Given the description of an element on the screen output the (x, y) to click on. 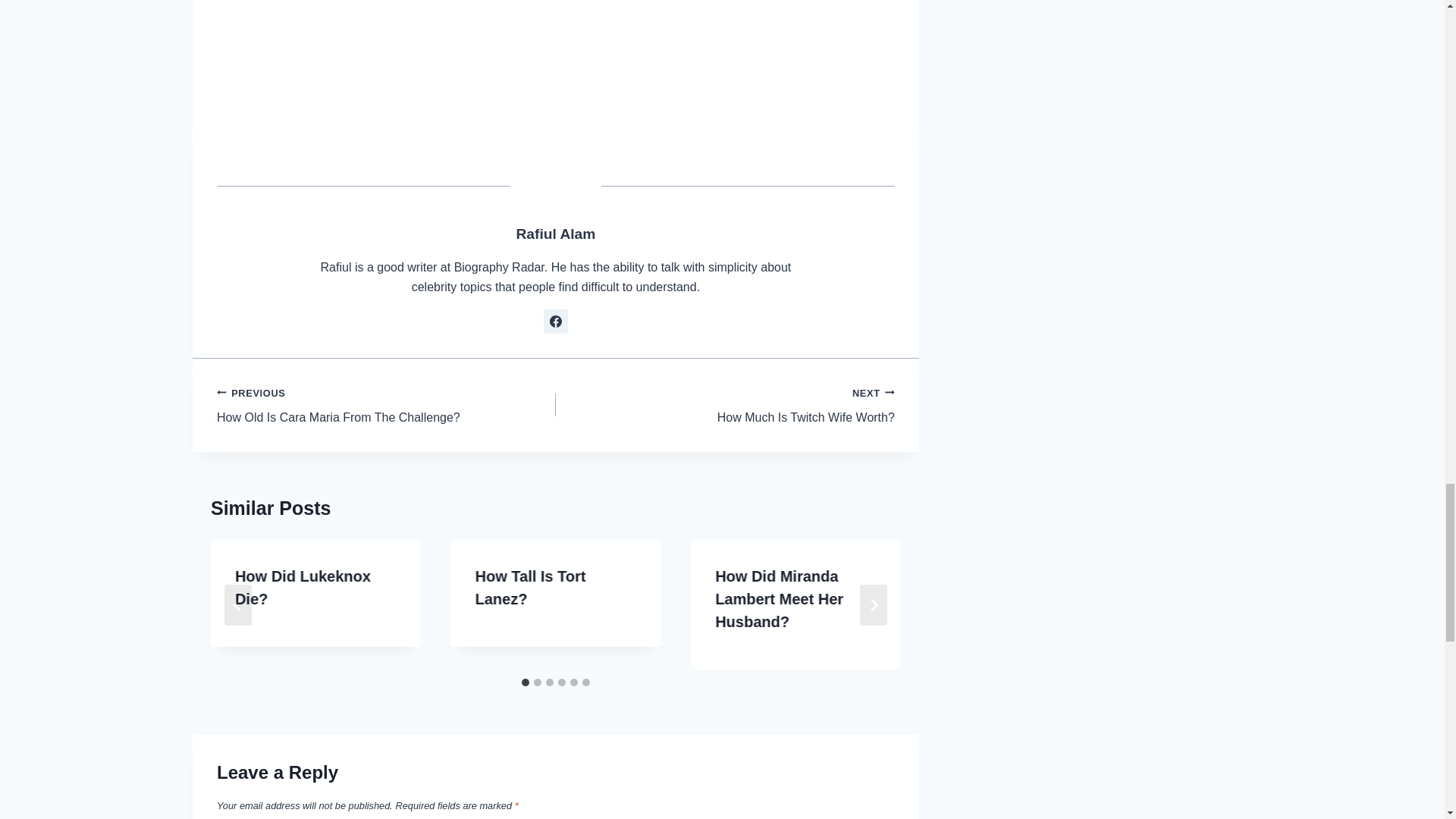
How Did Miranda Lambert Meet Her Husband? (778, 598)
Follow Rafiul Alam on Facebook (555, 321)
Rafiul Alam (555, 233)
How Did Lukeknox Die? (302, 587)
Advertisement (386, 405)
How Tall Is Tort Lanez? (725, 405)
Posts by Rafiul Alam (555, 53)
